Given the description of an element on the screen output the (x, y) to click on. 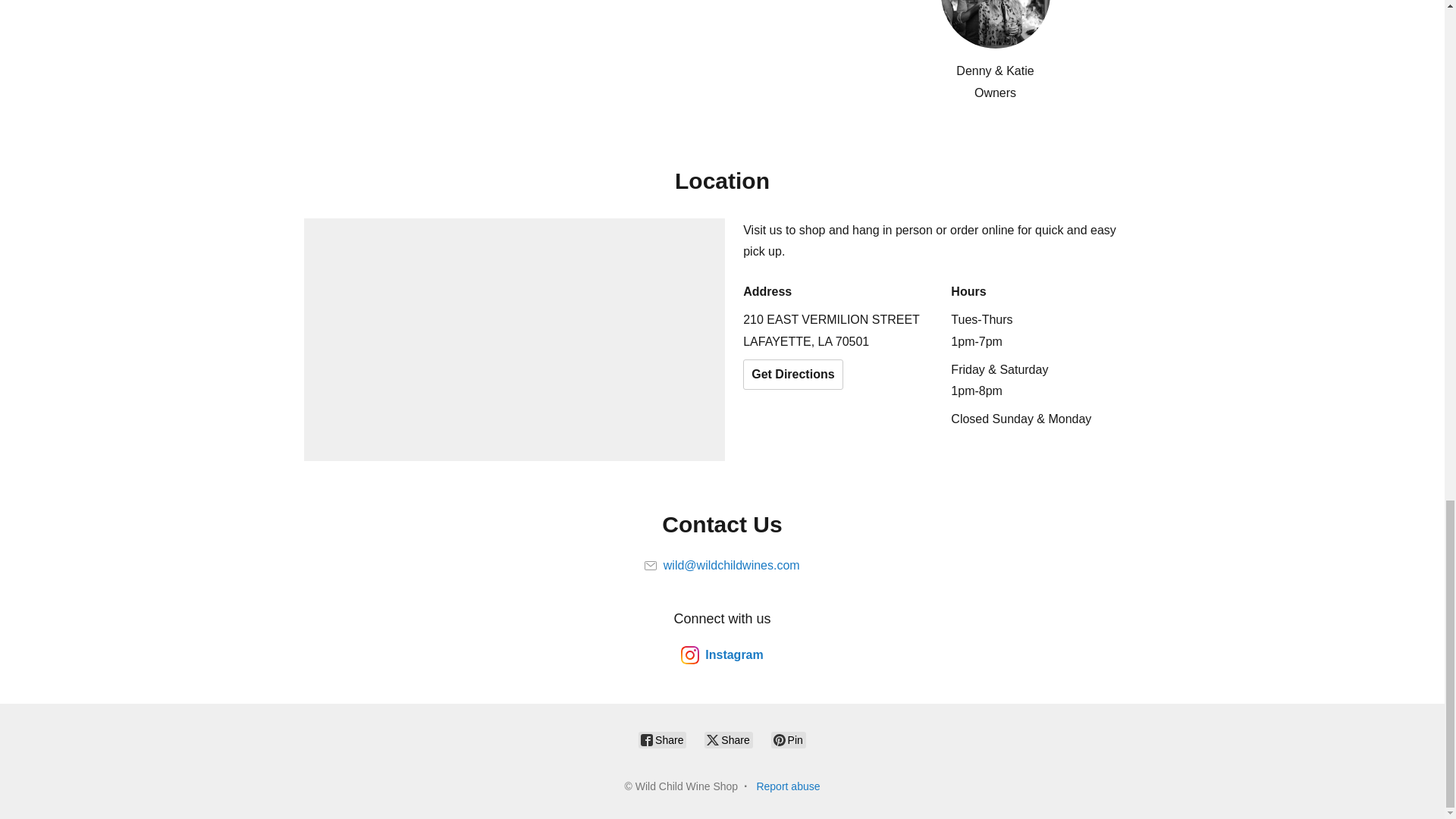
Share (662, 740)
Pin (788, 740)
Location on map (513, 339)
Report abuse (787, 786)
Instagram (721, 655)
Get Directions (792, 374)
Share (728, 740)
